Given the description of an element on the screen output the (x, y) to click on. 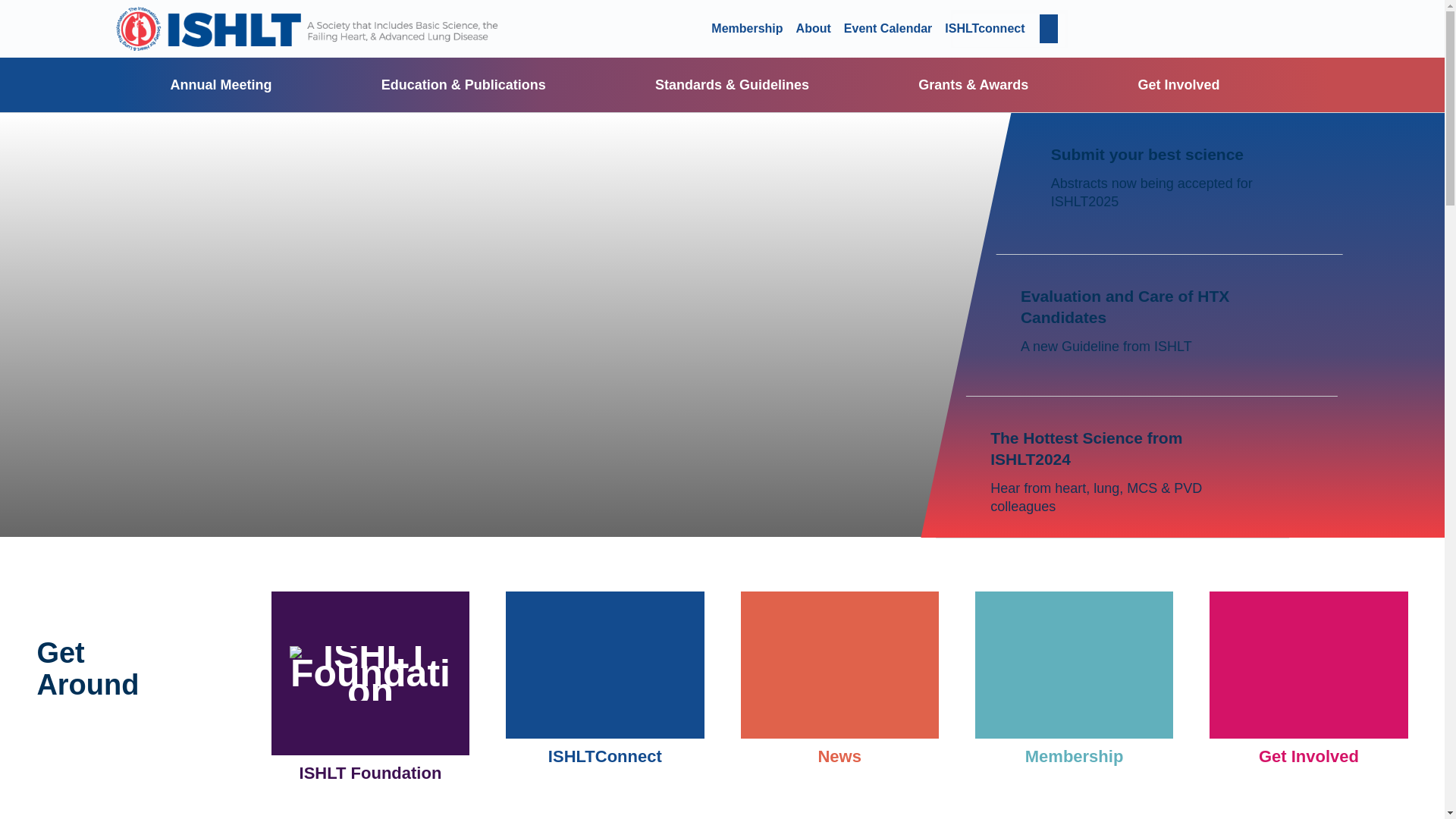
Membership (746, 28)
Event Calendar (888, 28)
Annual Meeting (220, 84)
About (813, 28)
ISHLTconnect (984, 28)
